Given the description of an element on the screen output the (x, y) to click on. 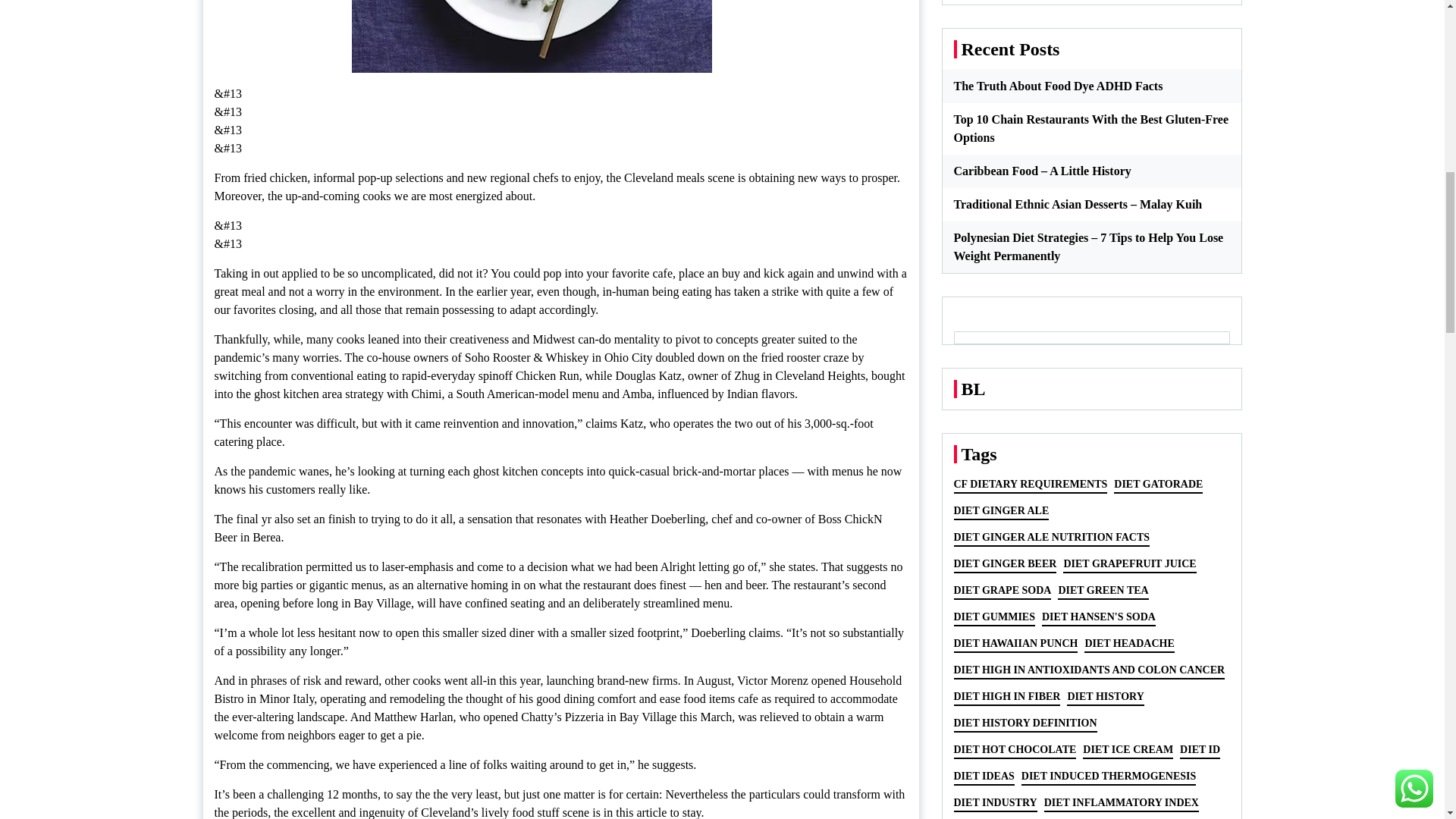
Best Restaurants 2021 (531, 36)
